Given the description of an element on the screen output the (x, y) to click on. 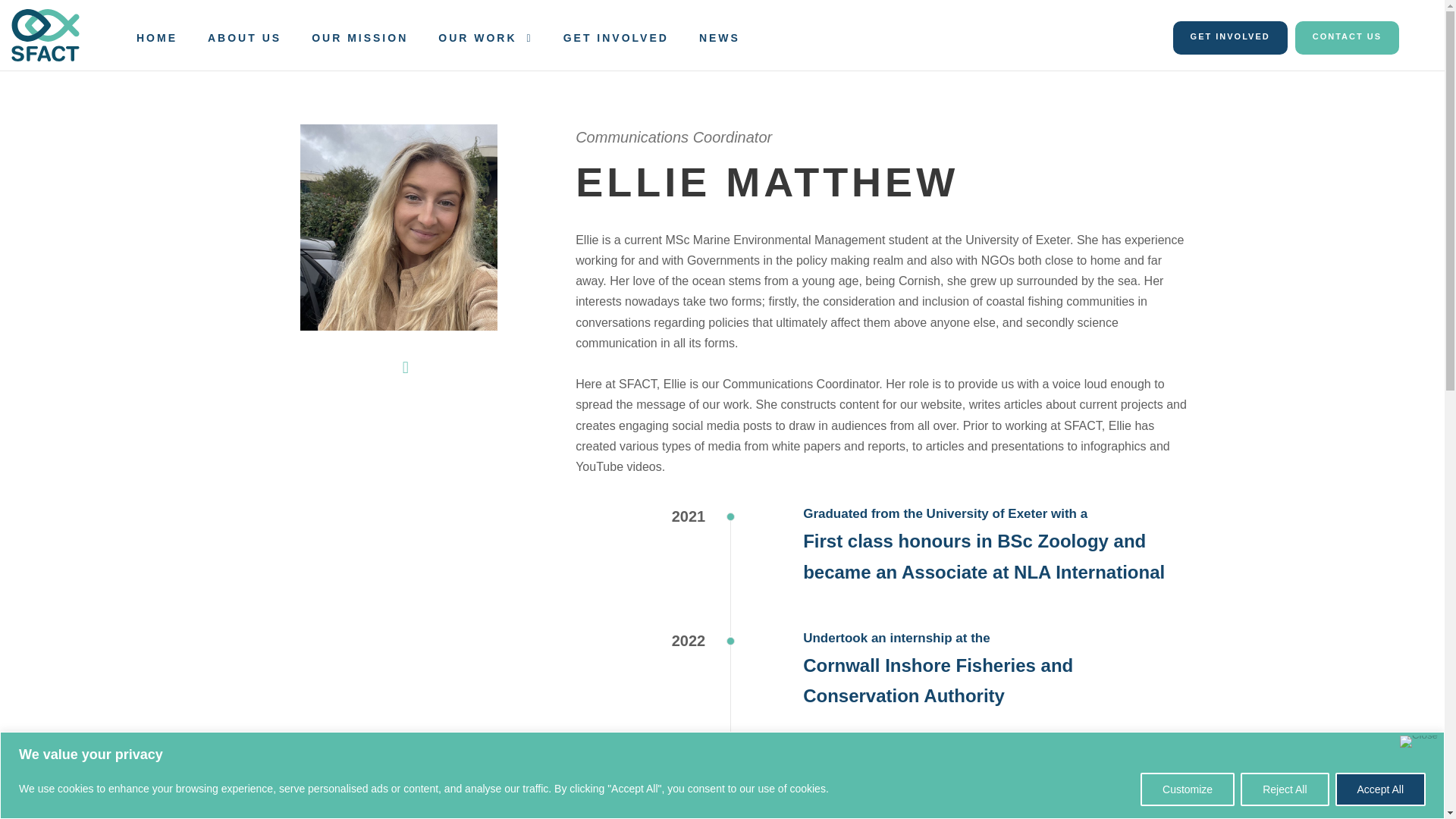
Accept All (1380, 788)
Customize (1187, 788)
HOME (156, 46)
Reject All (1283, 788)
SFACT-Logo-Web-Colour (45, 35)
ABOUT US (244, 46)
